Given the description of an element on the screen output the (x, y) to click on. 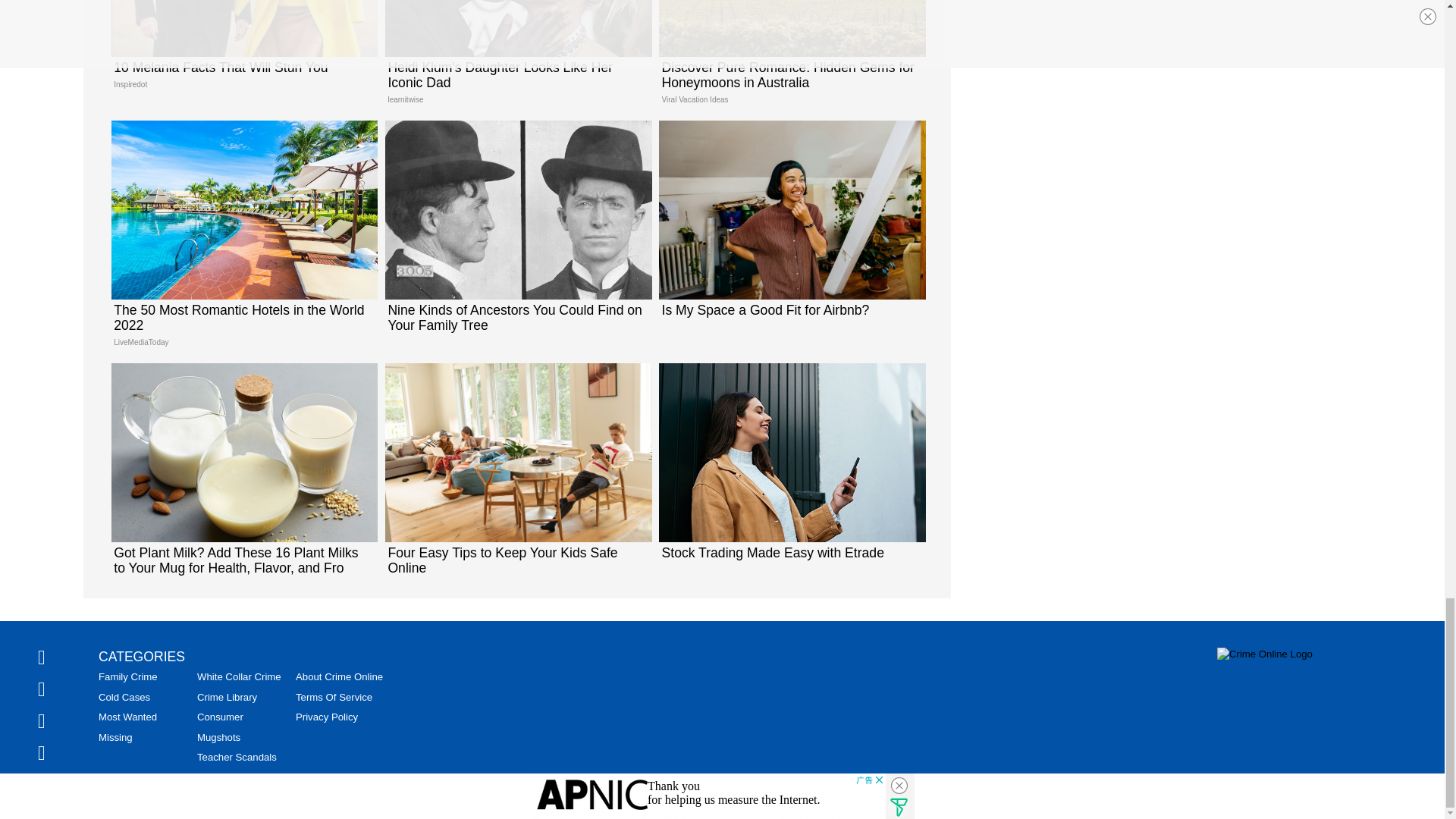
Stock Trading Made Easy with Etrade (791, 468)
The 50 Most Romantic Hotels in the World 2022 (242, 239)
Four Easy Tips to Keep Your Kids Safe Online (515, 475)
Is My Space a Good Fit for Airbnb? (791, 225)
Nine Kinds of Ancestors You Could Find on Your Family Tree (515, 232)
10 Melania Facts That Will Stun You (242, 50)
Heidi Klum's Daughter Looks Like Her Iconic Dad (242, 50)
